Given the description of an element on the screen output the (x, y) to click on. 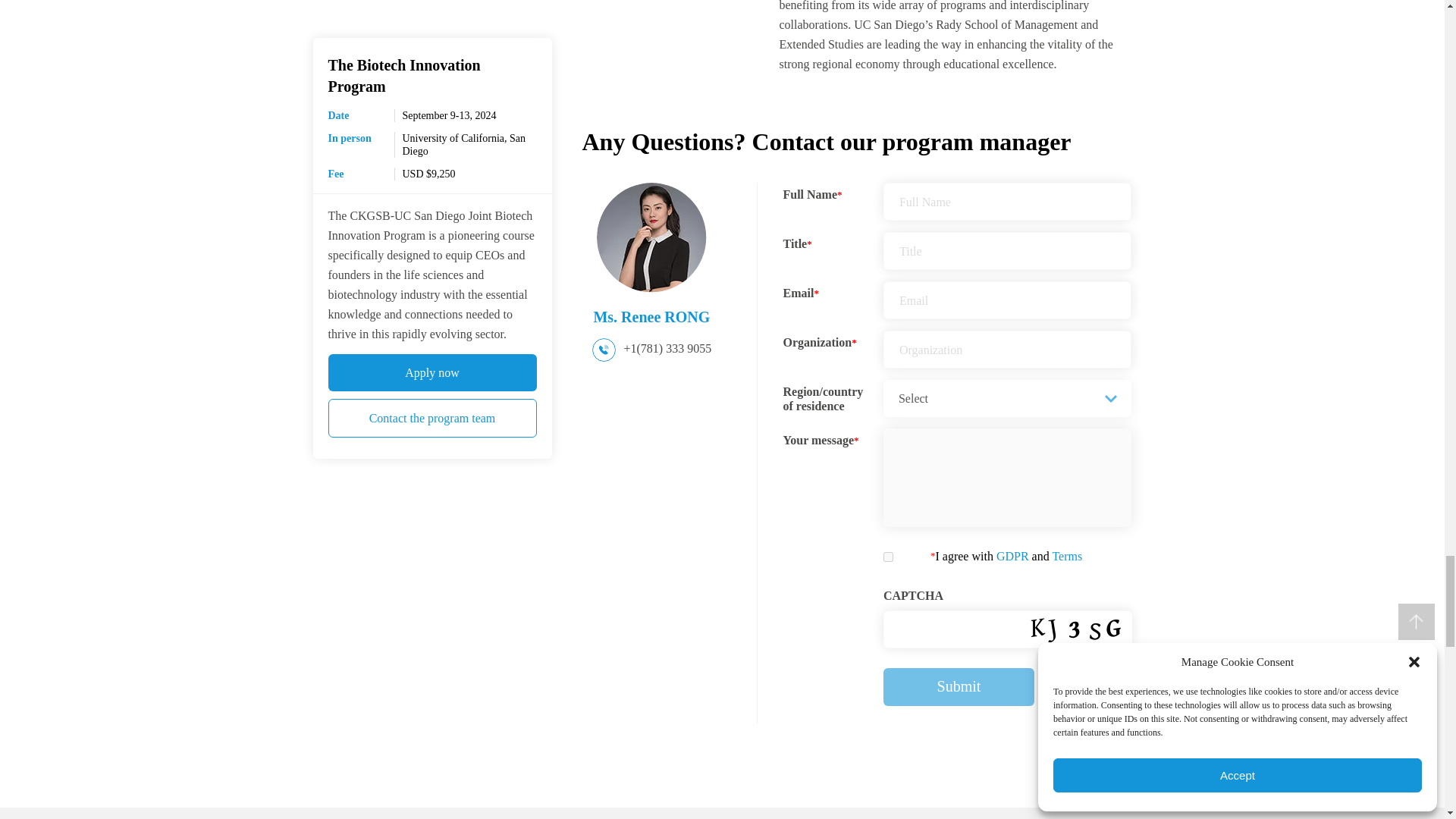
Submit (958, 686)
